Given the description of an element on the screen output the (x, y) to click on. 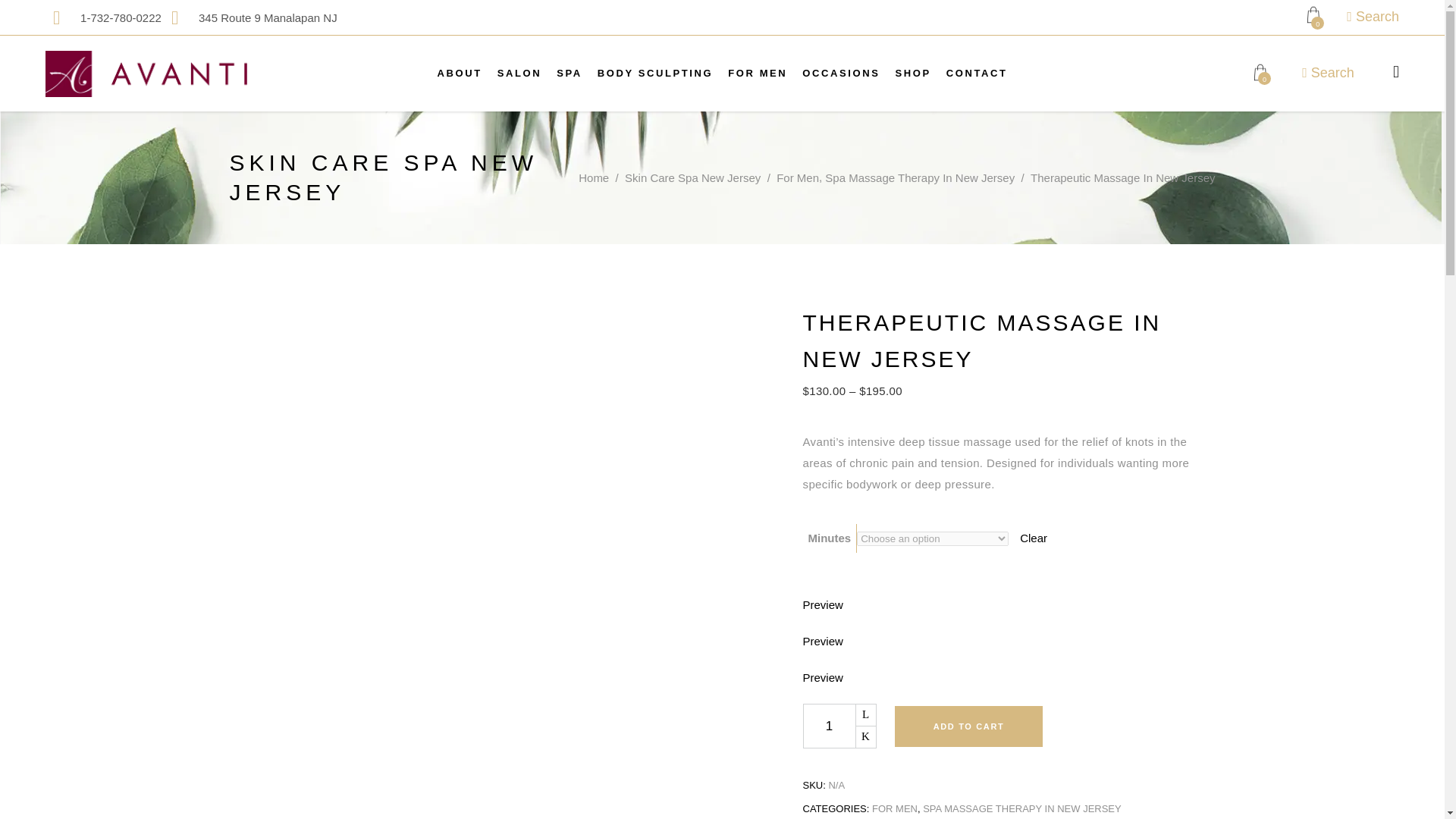
BODY SCULPTING (654, 73)
1 (829, 725)
OCCASIONS (840, 73)
Search (1372, 15)
FOR MEN (757, 73)
345 Route 9 Manalapan NJ (250, 17)
CONTACT (976, 73)
For Men (757, 73)
1-732-780-0222 (103, 17)
